Given the description of an element on the screen output the (x, y) to click on. 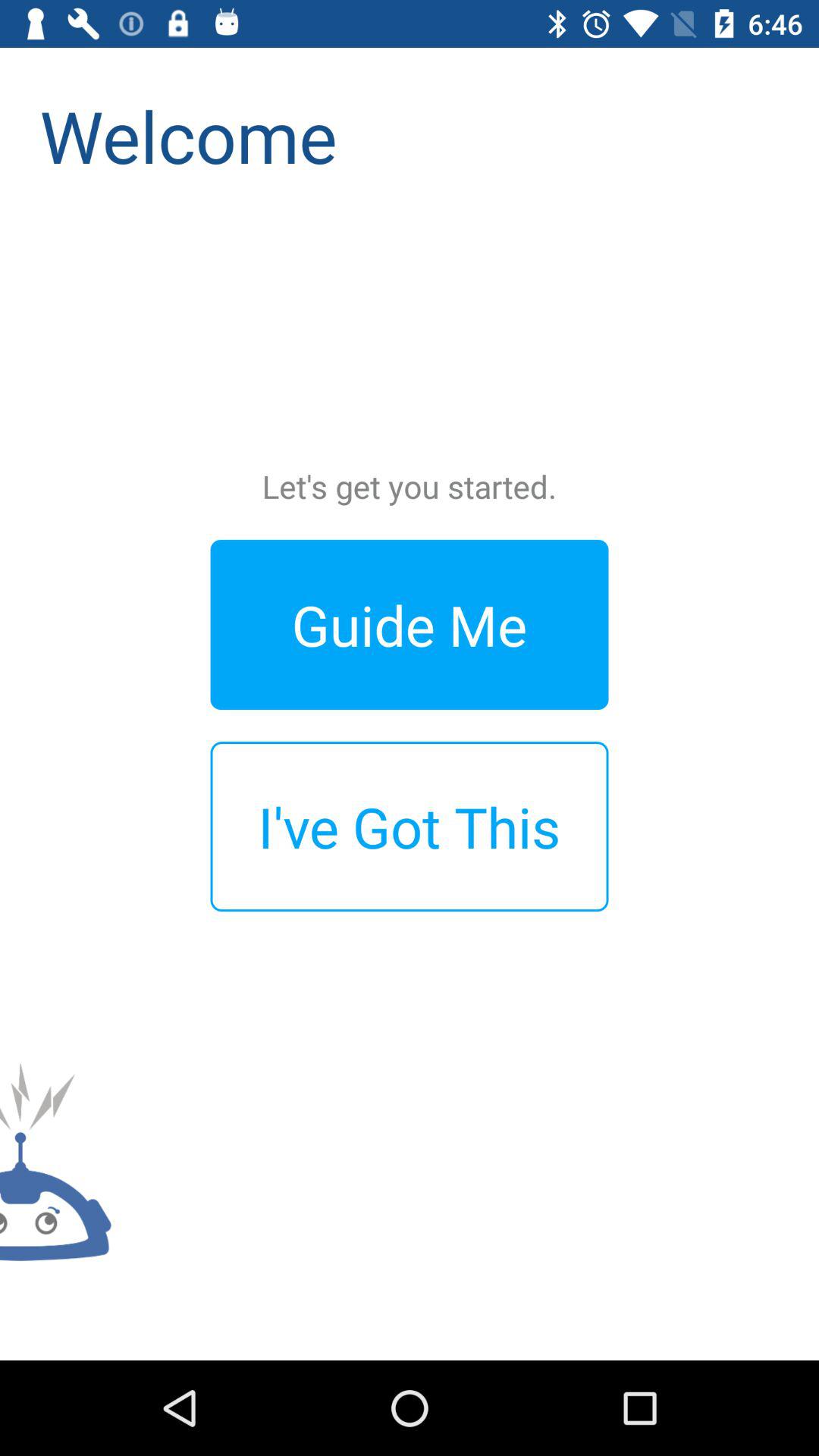
tap the icon below guide me item (409, 826)
